Given the description of an element on the screen output the (x, y) to click on. 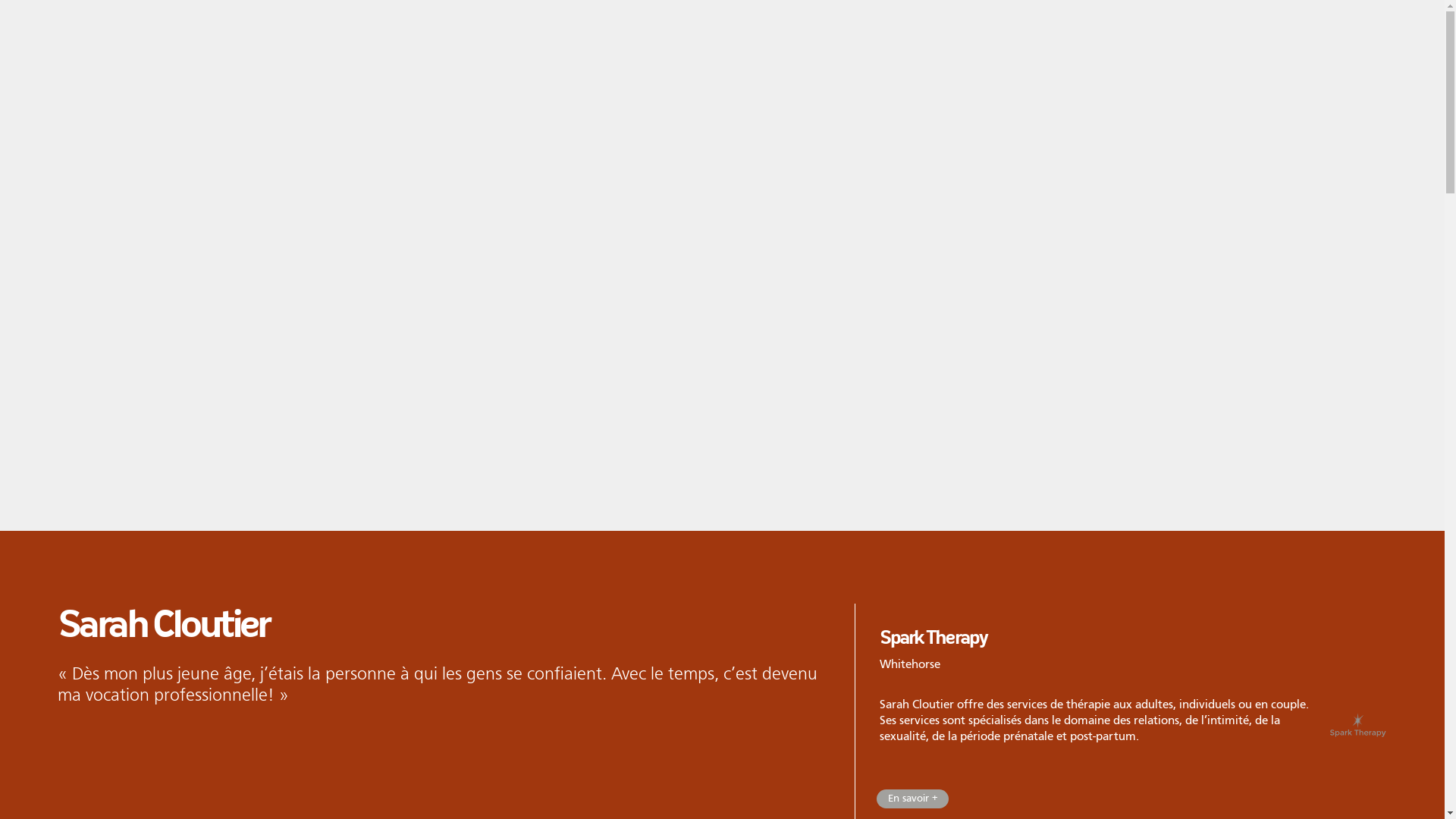
En savoir + Element type: text (912, 798)
